Given the description of an element on the screen output the (x, y) to click on. 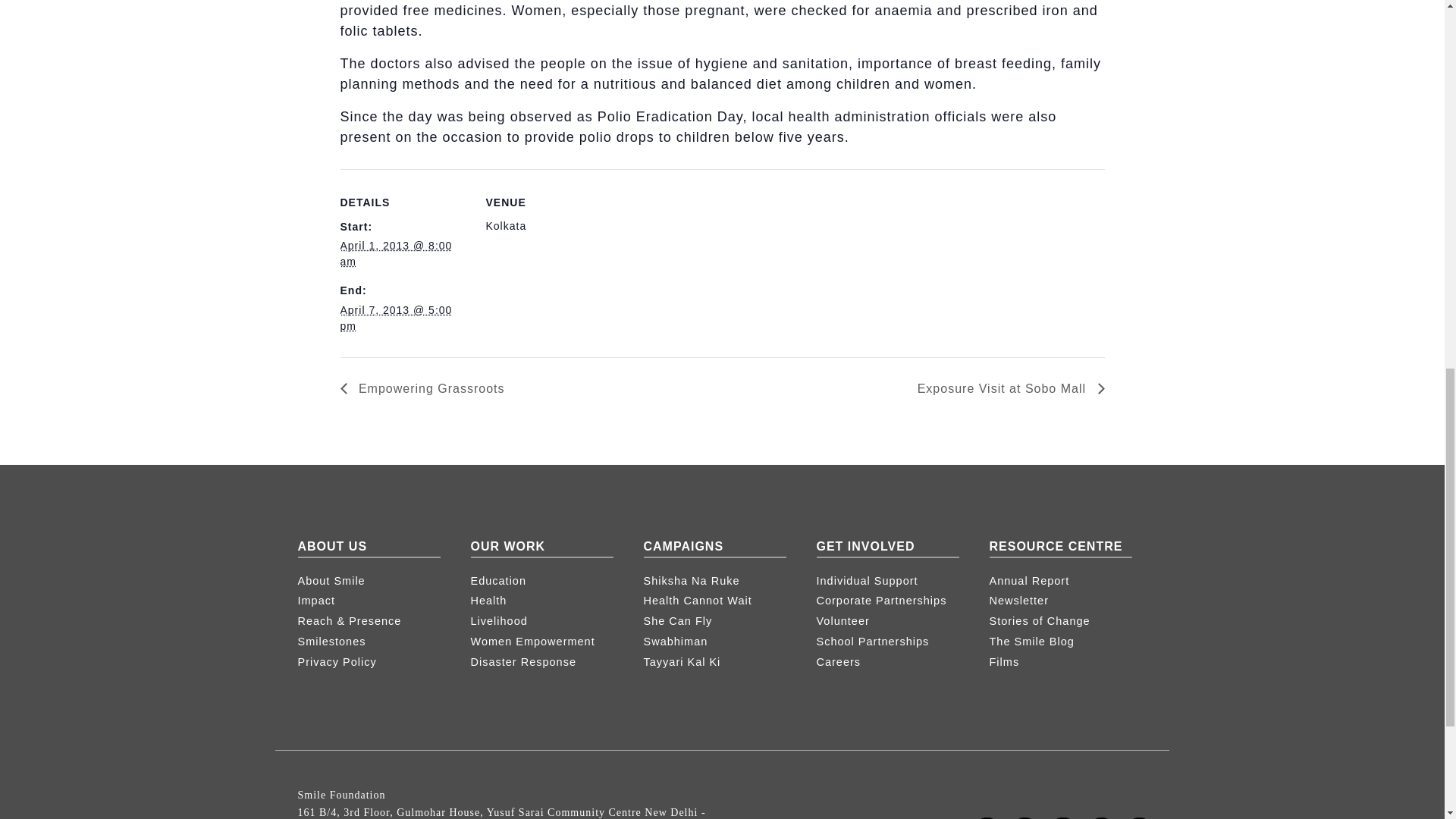
2013-04-07 (395, 317)
2013-04-01 (395, 253)
